Given the description of an element on the screen output the (x, y) to click on. 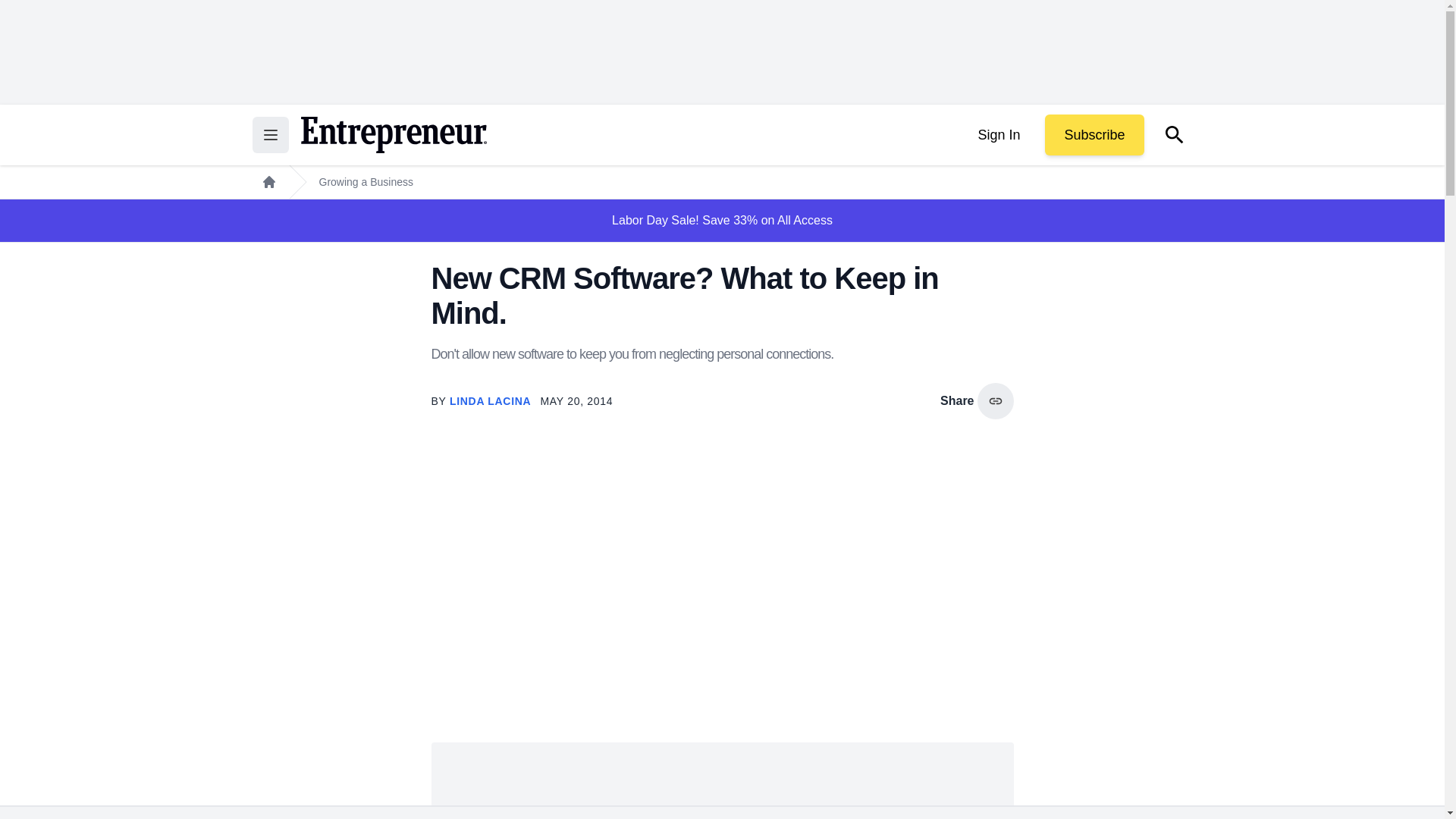
Return to the home page (392, 135)
Subscribe (1093, 134)
Sign In (998, 134)
copy (994, 401)
